Given the description of an element on the screen output the (x, y) to click on. 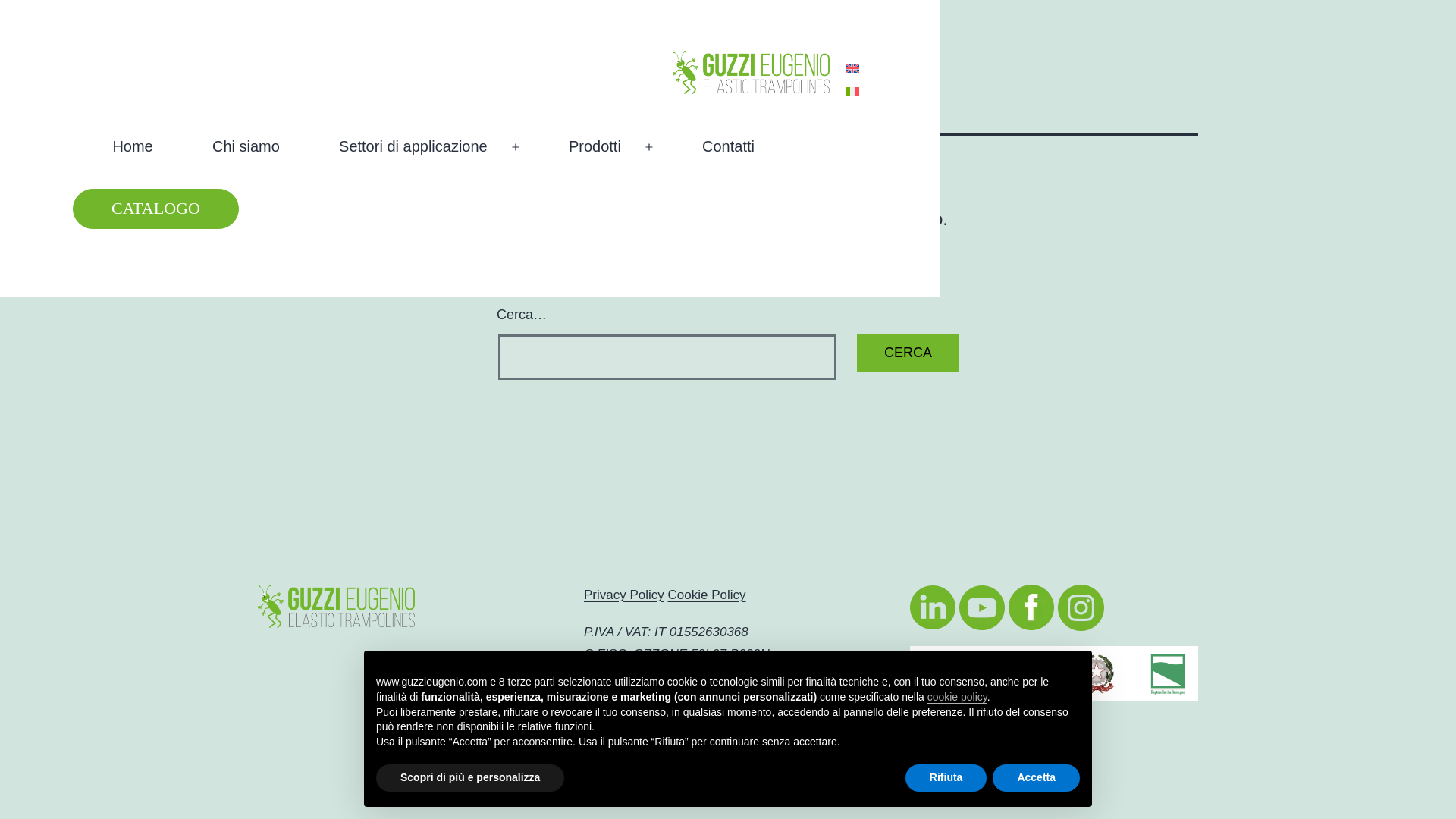
Prodotti (601, 146)
Home (138, 146)
Cerca (908, 352)
Cerca (908, 352)
Chi siamo (252, 146)
Contatti (735, 146)
Settori di applicazione (420, 146)
